Given the description of an element on the screen output the (x, y) to click on. 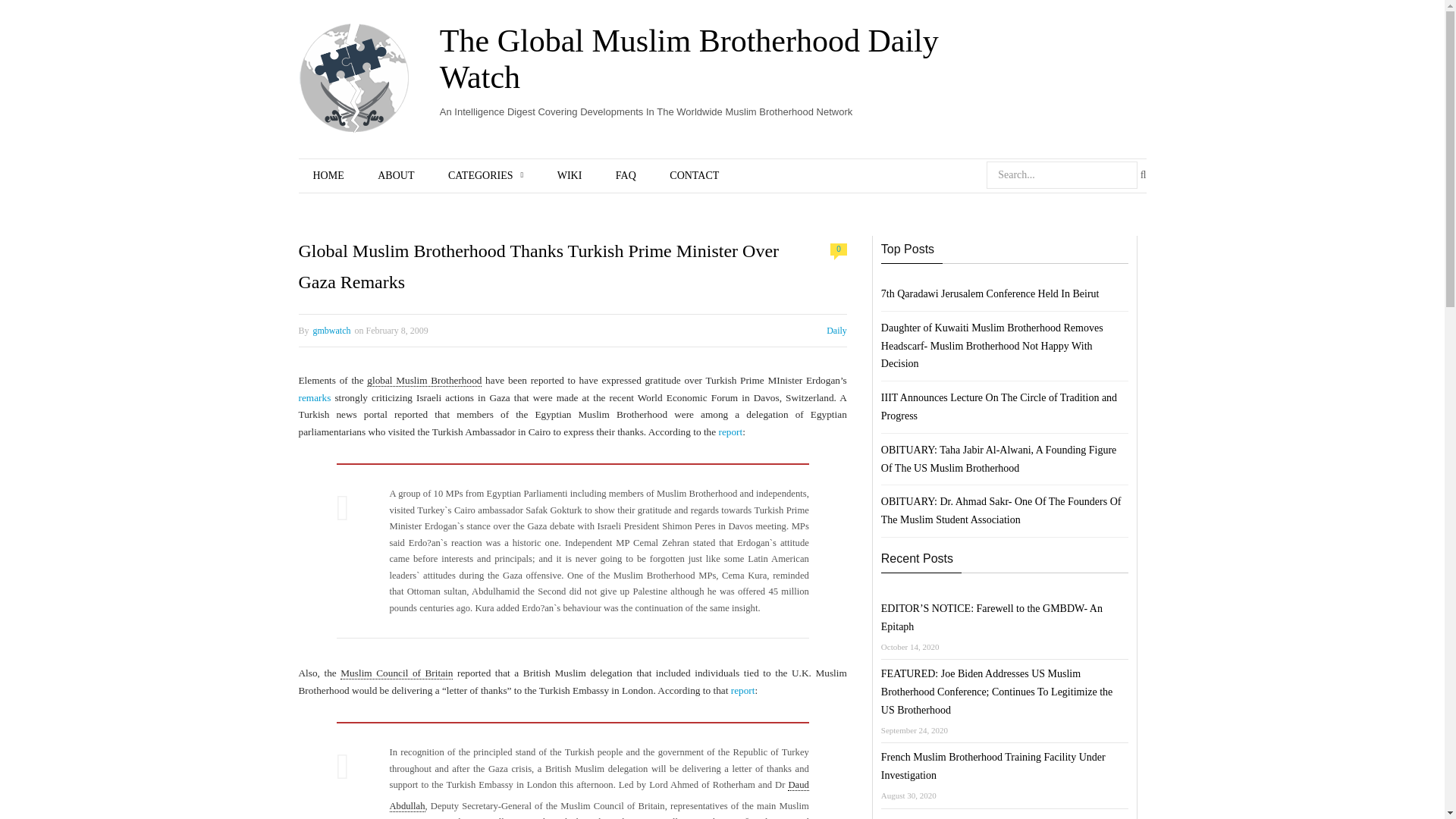
FAQ (625, 175)
Daud Abdullah (599, 795)
HOME (327, 175)
gmbwatch (331, 330)
Daily (837, 330)
global Muslim Brotherhood (423, 380)
remarks (314, 397)
Search for: (1062, 175)
report (742, 690)
CONTACT (693, 175)
